Given the description of an element on the screen output the (x, y) to click on. 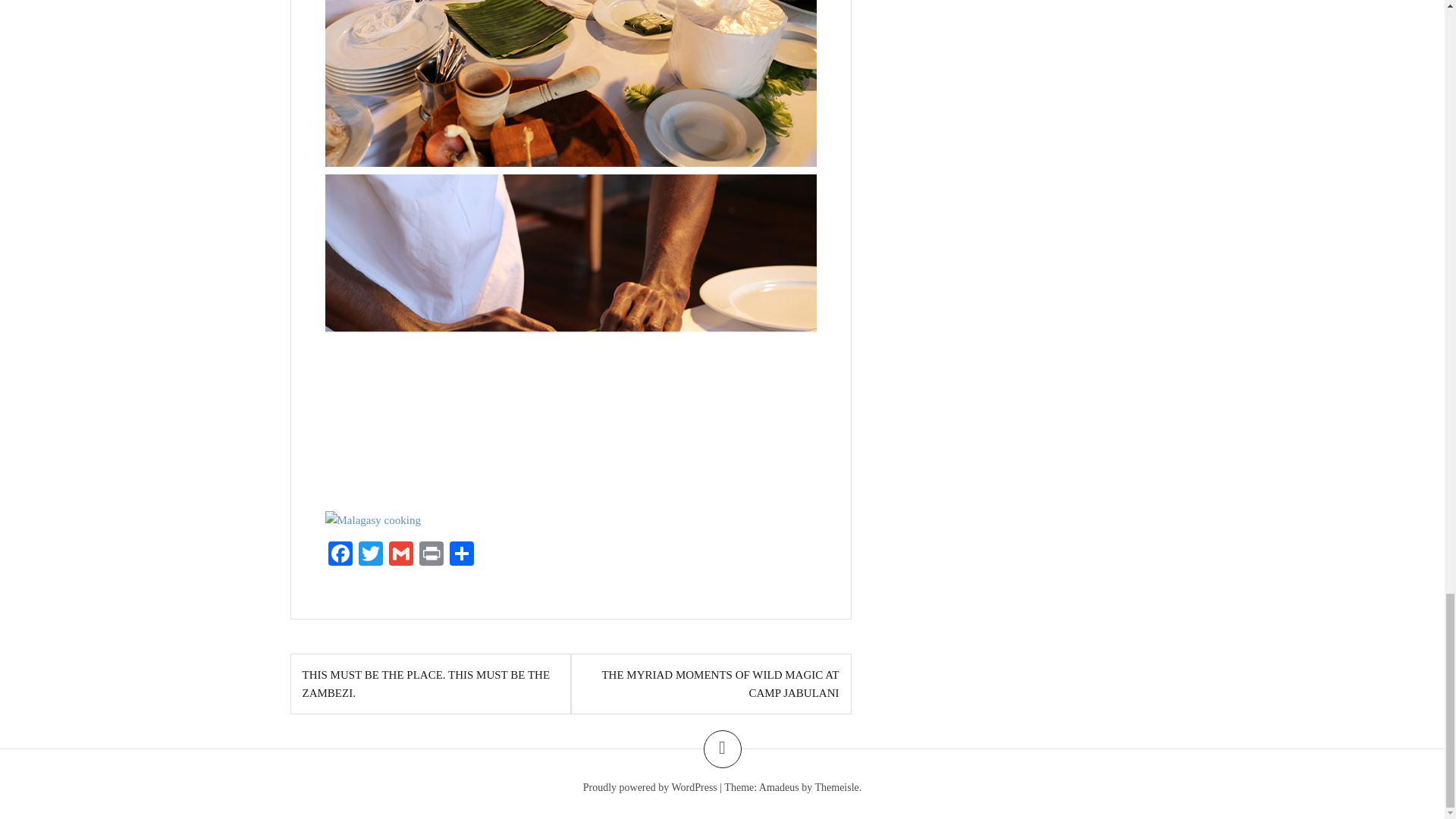
Twitter (370, 555)
Facebook (339, 555)
Share (460, 555)
THE MYRIAD MOMENTS OF WILD MAGIC AT CAMP JABULANI (719, 684)
Print (429, 555)
Print (429, 555)
Twitter (370, 555)
Gmail (399, 555)
Facebook (339, 555)
Gmail (399, 555)
THIS MUST BE THE PLACE. THIS MUST BE THE ZAMBEZI. (425, 684)
